Given the description of an element on the screen output the (x, y) to click on. 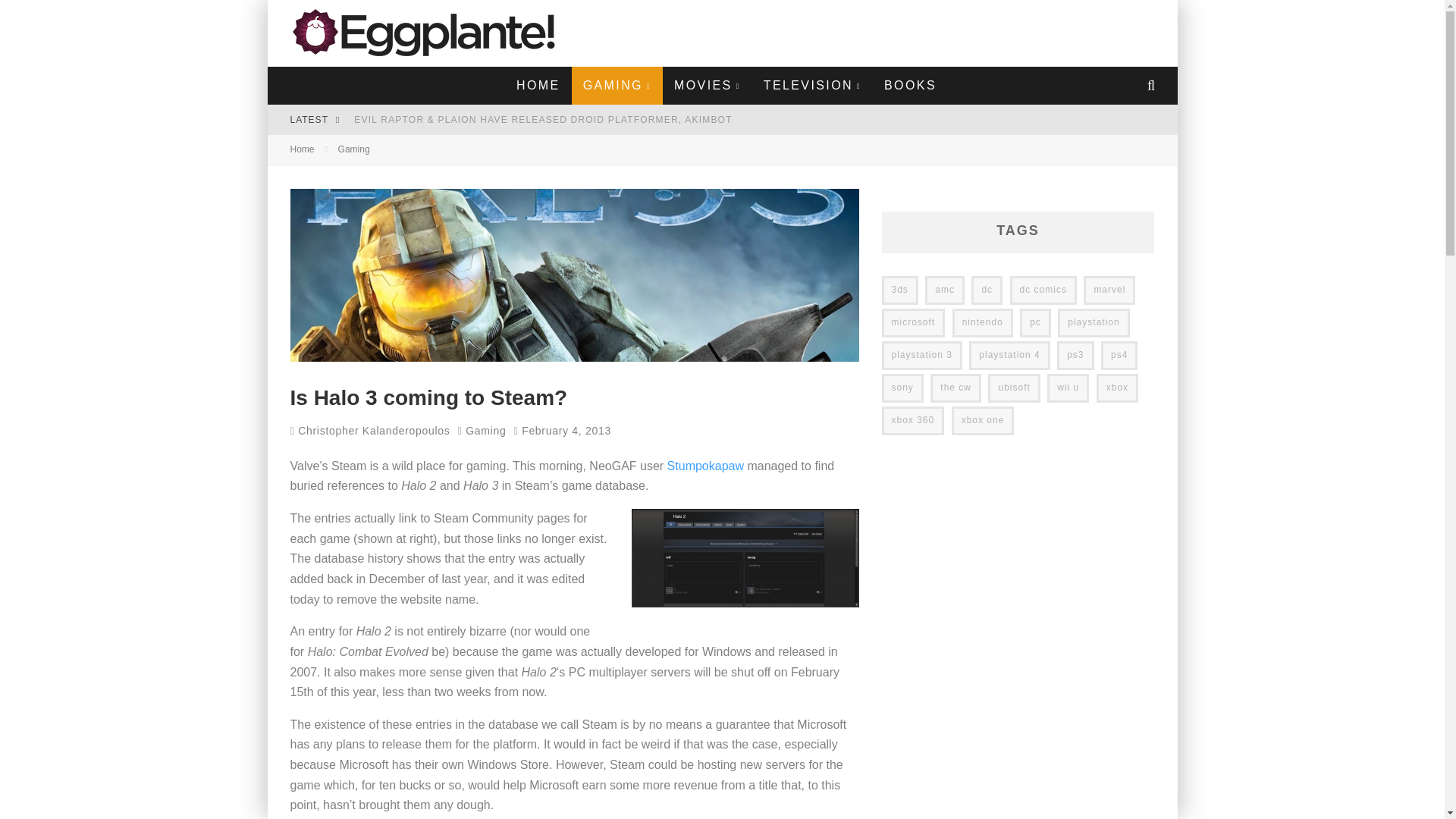
MOVIES (707, 85)
HOME (538, 85)
TELEVISION (811, 85)
GAMING (616, 85)
